Given the description of an element on the screen output the (x, y) to click on. 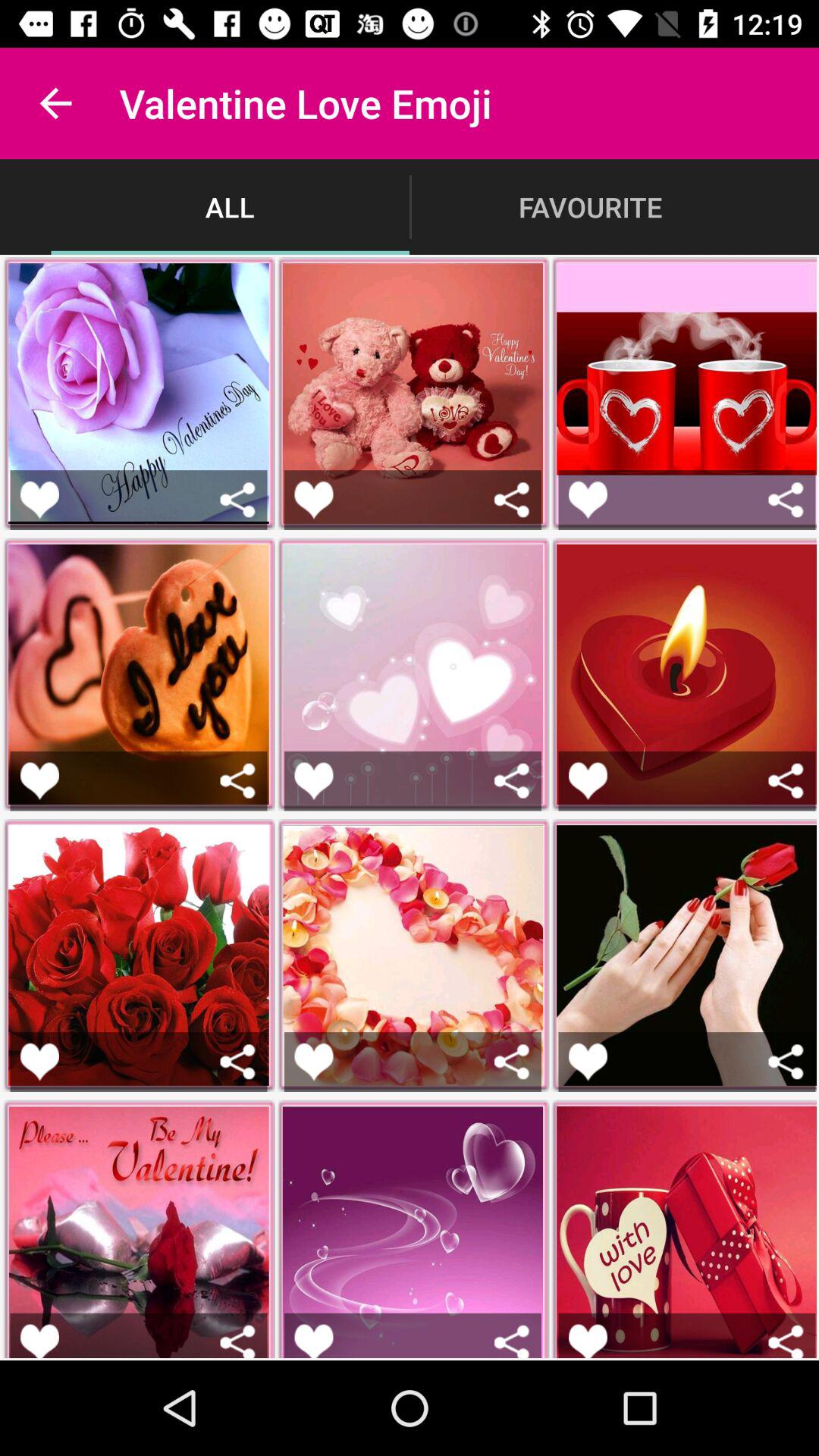
favorite (587, 1061)
